Given the description of an element on the screen output the (x, y) to click on. 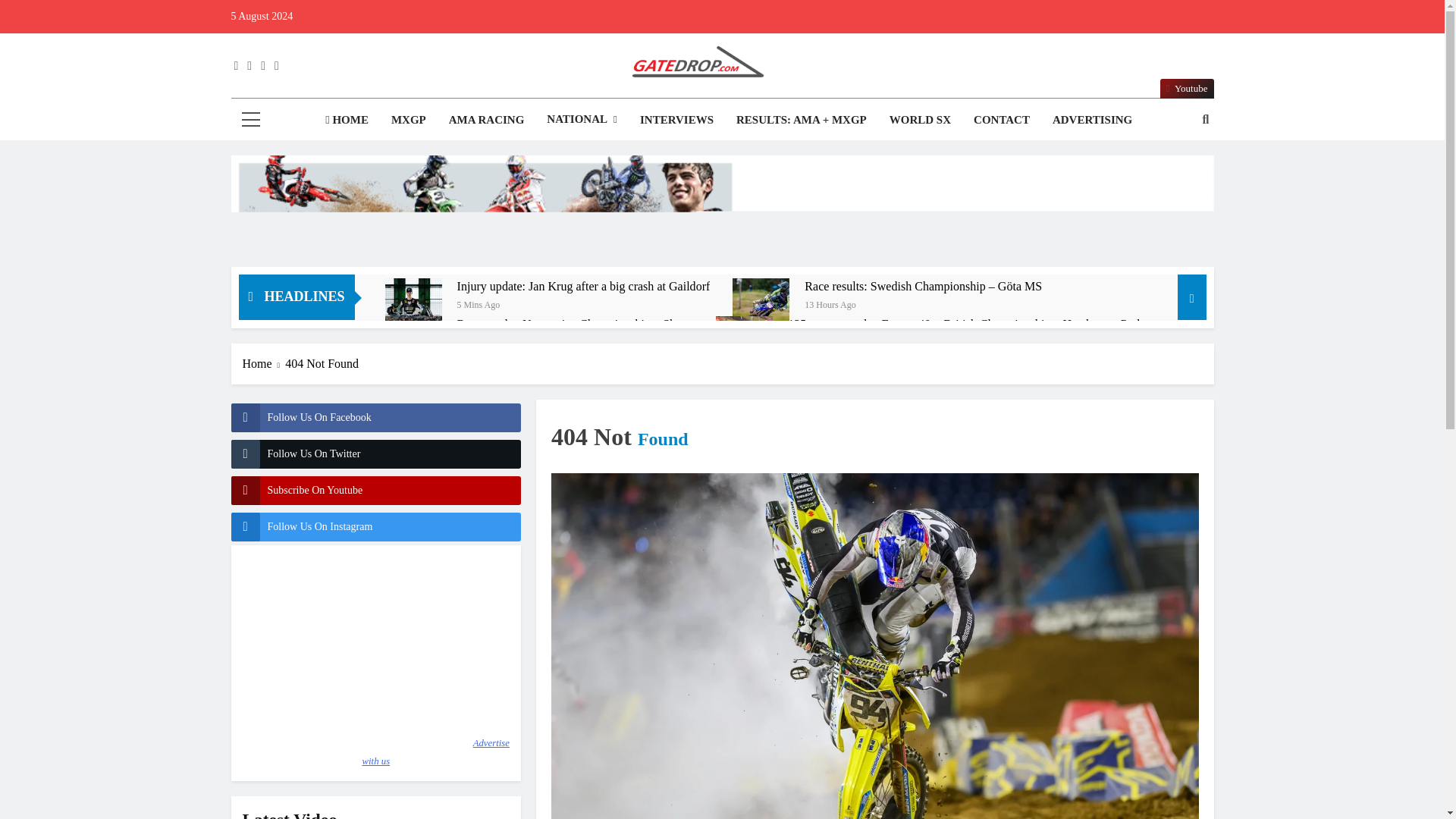
HOME (347, 119)
GateDrop.Com (542, 109)
Injury update: Jan Krug after a big crash at Gaildorf (413, 306)
Injury update: Jan Krug after a big crash at Gaildorf (583, 286)
